Given the description of an element on the screen output the (x, y) to click on. 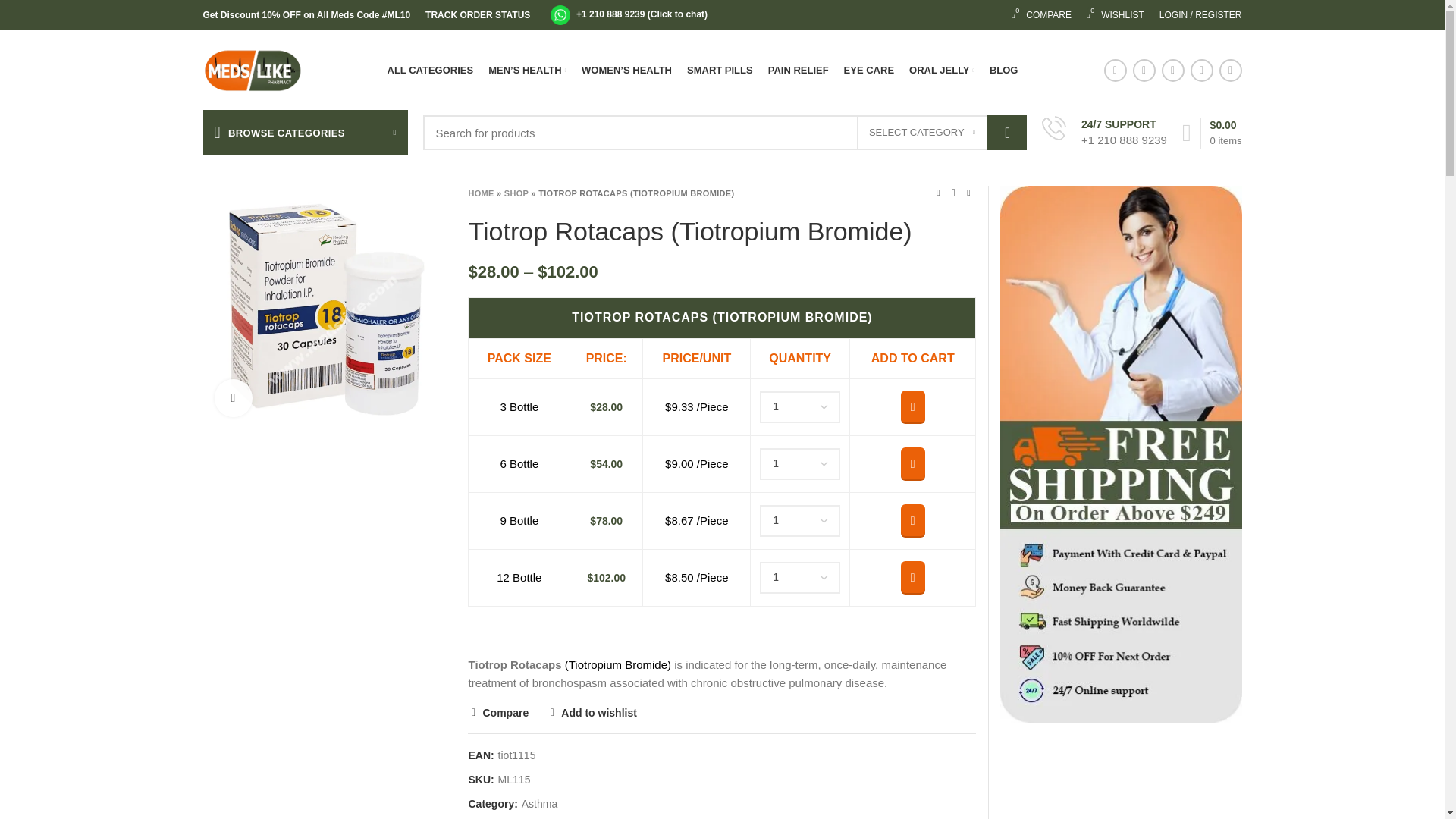
Compare products (1041, 15)
My Wishlist (1041, 15)
ALL CATEGORIES (1114, 15)
PAIN RELIEF (430, 69)
SELECT CATEGORY (797, 69)
My account (922, 132)
TRACK ORDER STATUS (1200, 15)
SMART PILLS (477, 14)
